Given the description of an element on the screen output the (x, y) to click on. 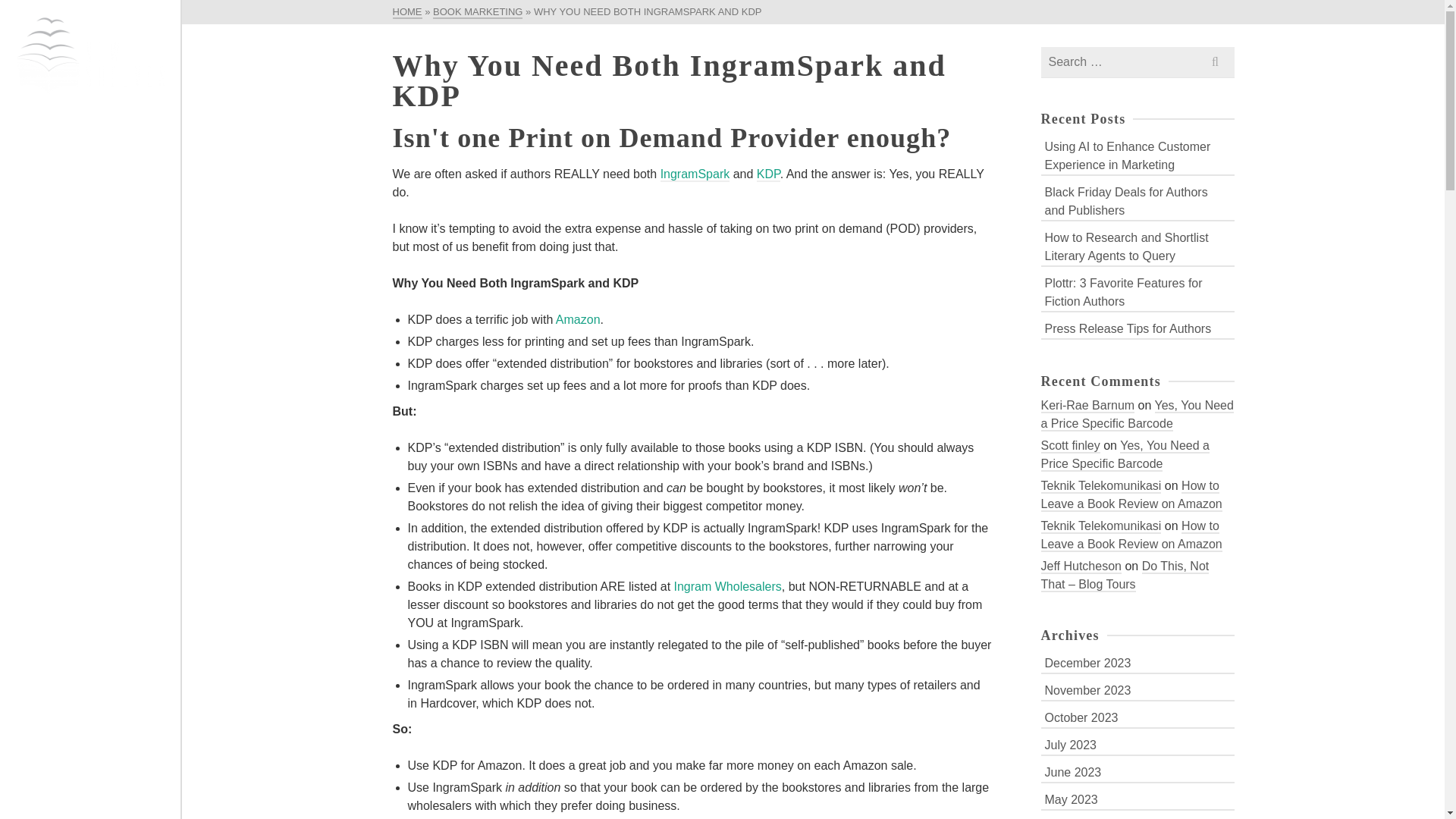
CONTACT (91, 392)
WHAT WE DO (91, 241)
RESOURCES (91, 331)
BLOG (91, 362)
STORE (91, 422)
HOME (91, 210)
WORK WITH US (91, 271)
